Given the description of an element on the screen output the (x, y) to click on. 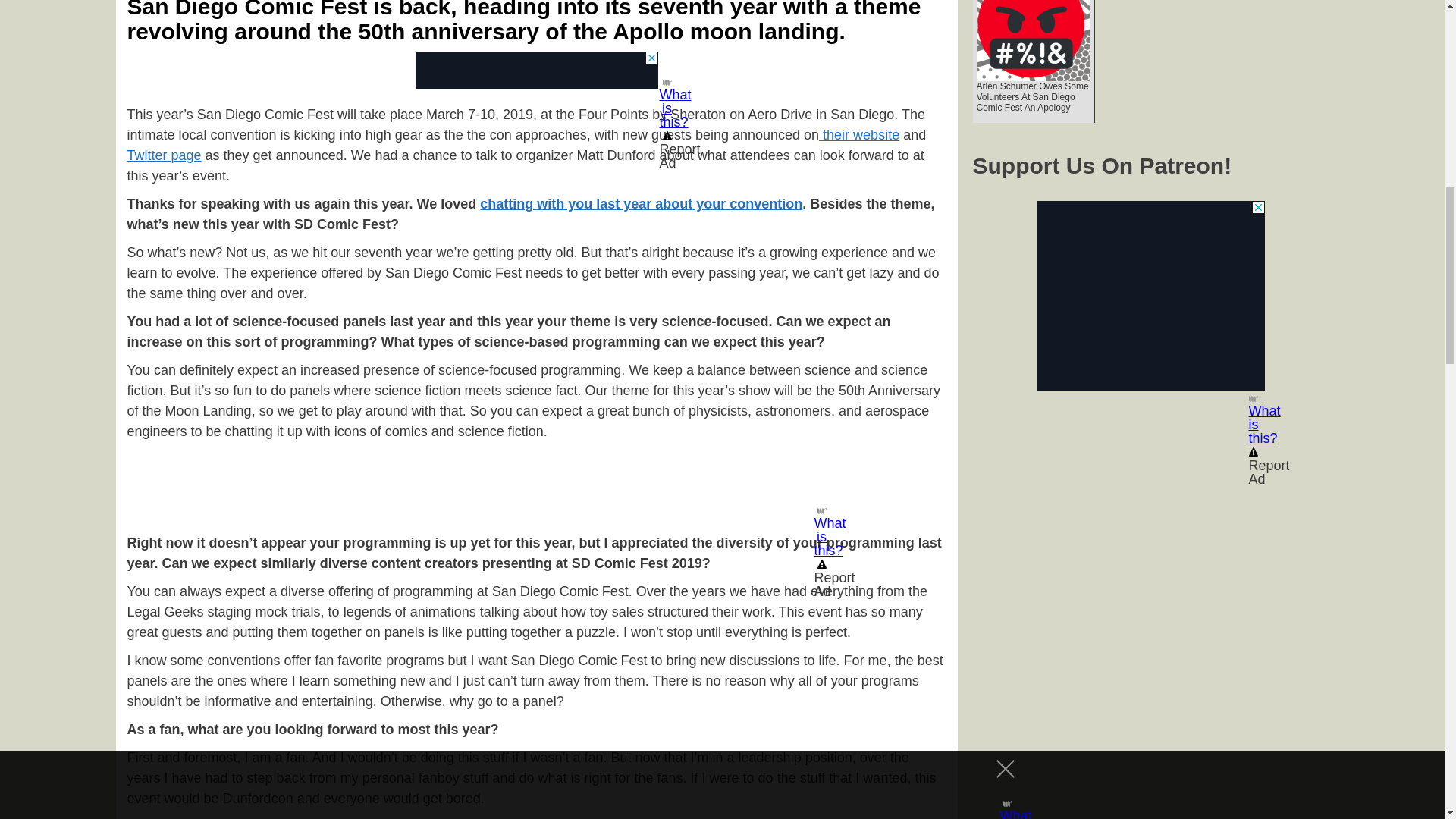
3rd party ad content (536, 70)
3rd party ad content (1150, 295)
3rd party ad content (536, 483)
